Given the description of an element on the screen output the (x, y) to click on. 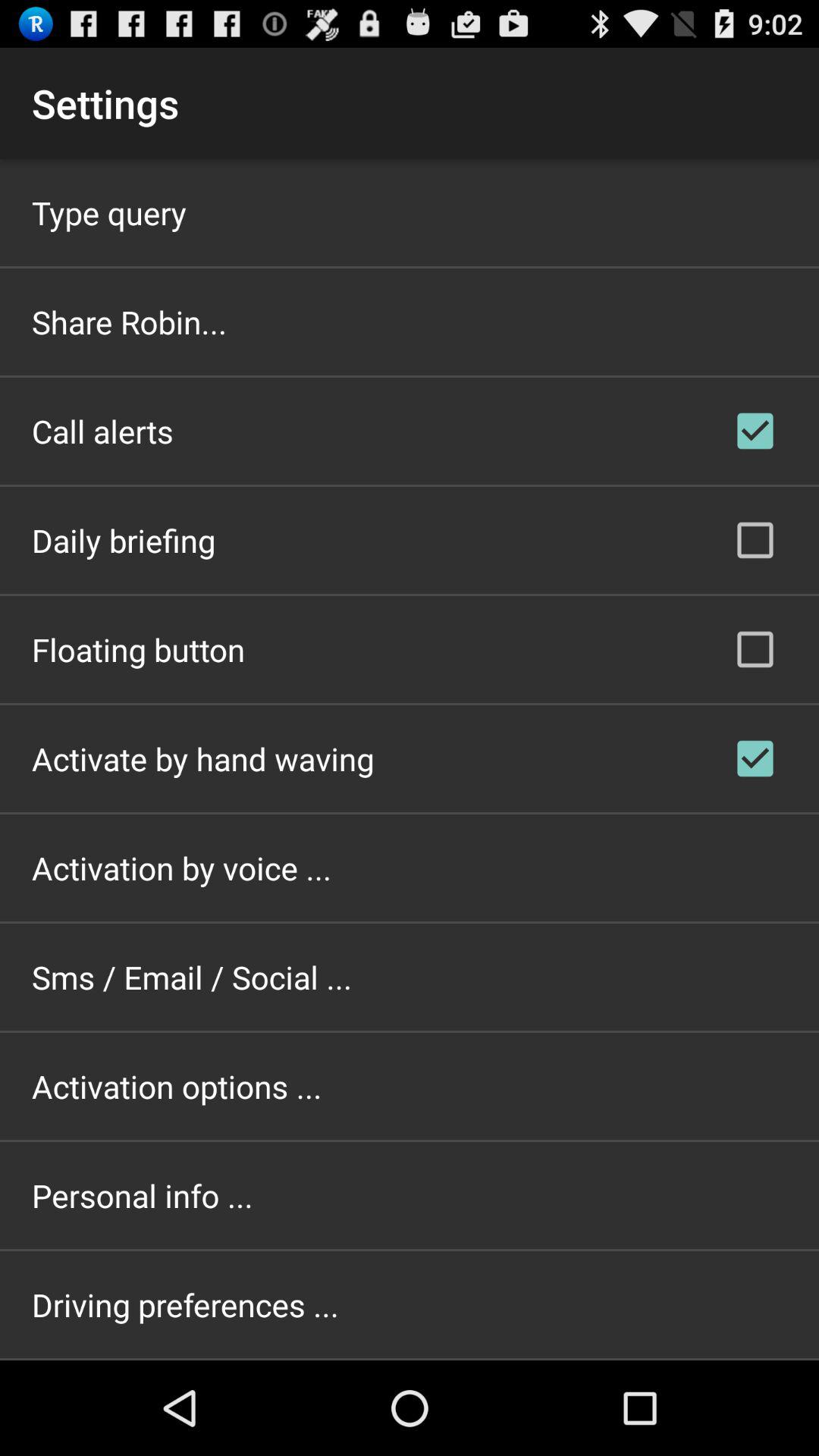
select item below the personal info ... item (184, 1304)
